Given the description of an element on the screen output the (x, y) to click on. 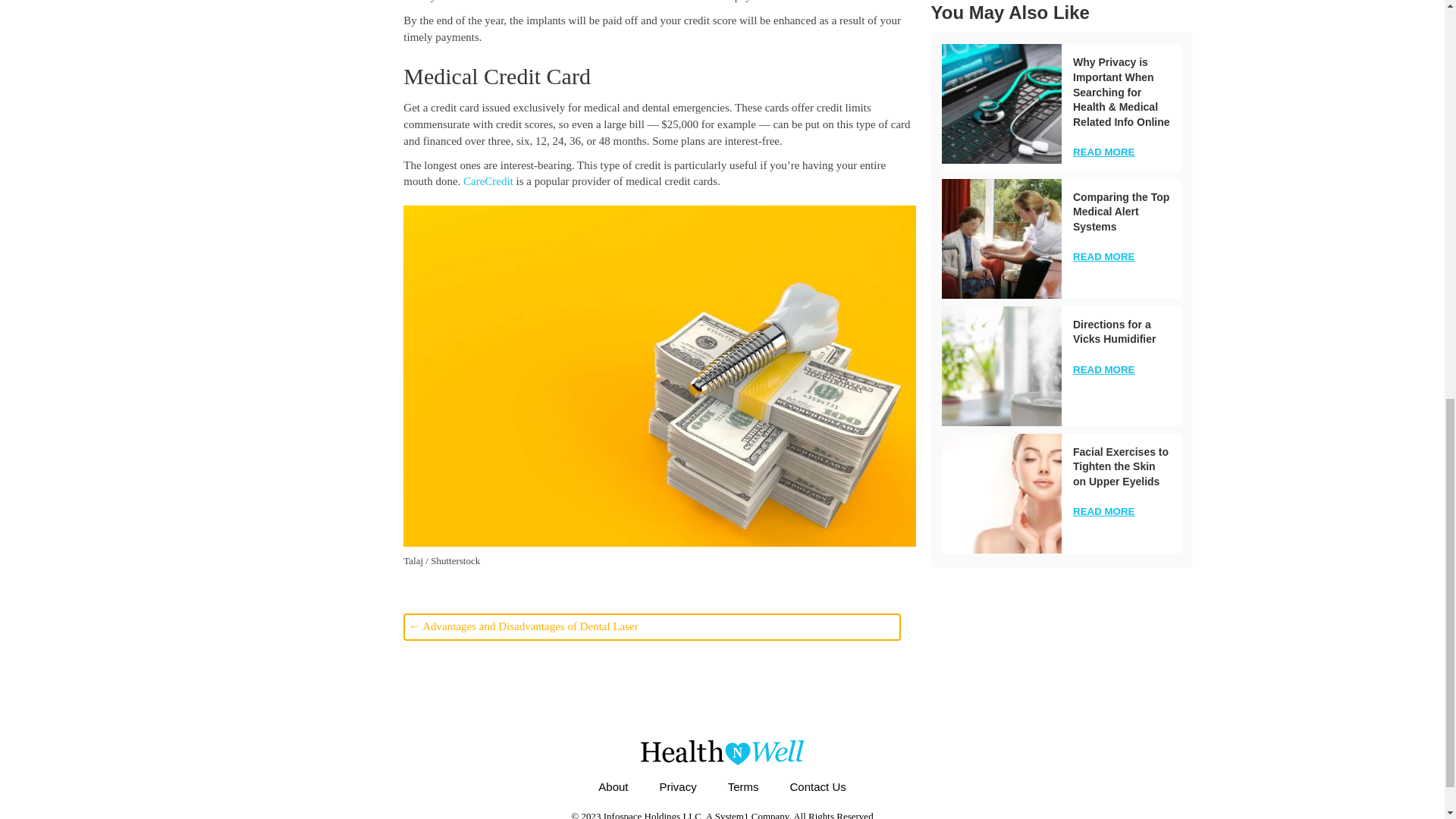
Directions for a Vicks Humidifier (1001, 365)
Comparing the Top Medical Alert Systems (1121, 211)
READ MORE (1103, 256)
Comparing the Top Medical Alert Systems (1001, 238)
CareCredit (488, 181)
Comparing the Top Medical Alert Systems (1121, 211)
READ MORE (1103, 152)
